Given the description of an element on the screen output the (x, y) to click on. 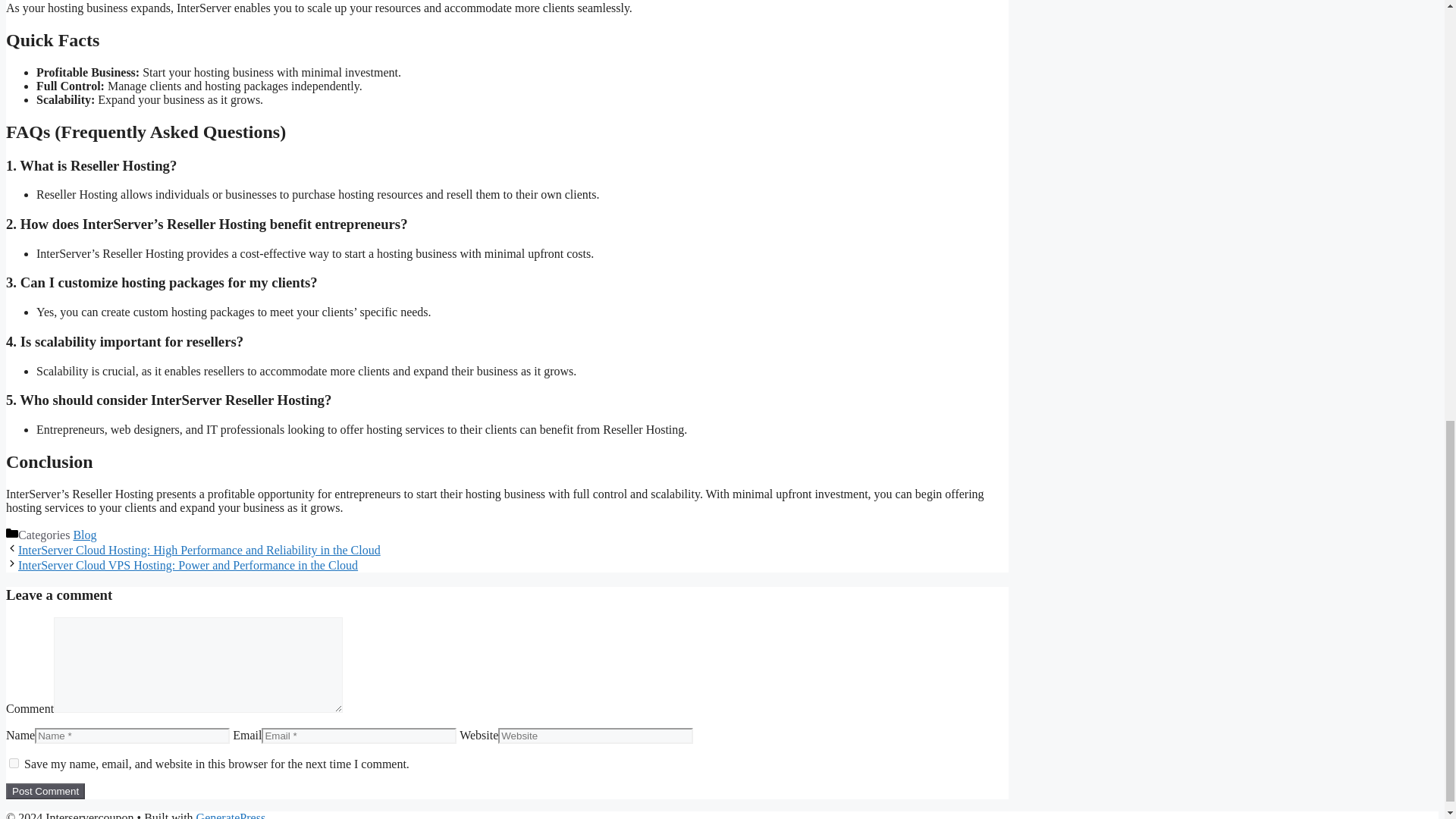
Blog (84, 534)
yes (13, 763)
Post Comment (44, 790)
Post Comment (44, 790)
